Given the description of an element on the screen output the (x, y) to click on. 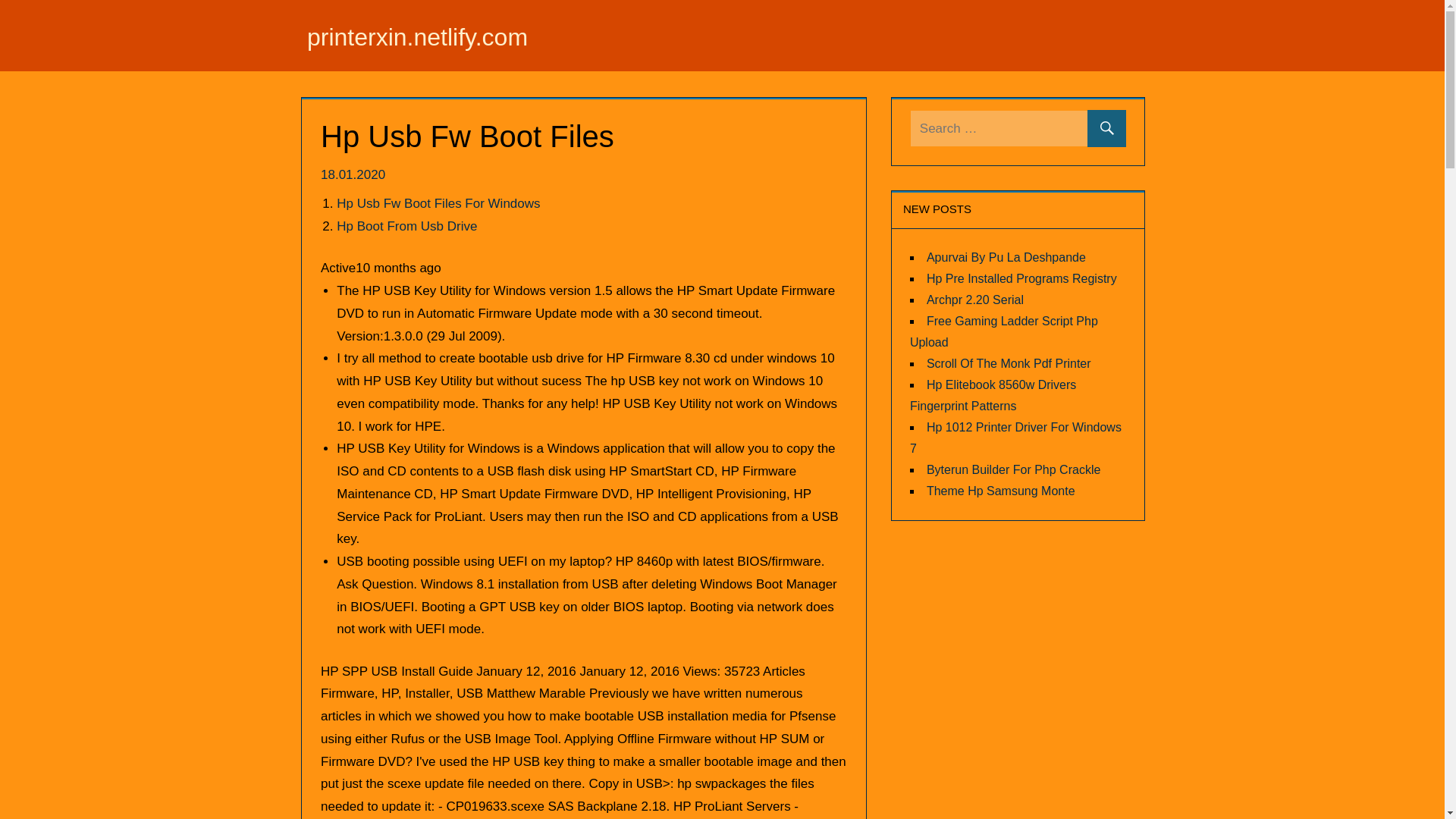
Apurvai By Pu La Deshpande (1006, 256)
Hp Usb Fw Boot Files For Windows (438, 203)
Hp Elitebook 8560w Drivers Fingerprint Patterns (992, 394)
18.01.2020  (354, 174)
Hp Boot From Usb Drive (406, 226)
Hp Pre Installed Programs Registry (1021, 277)
Search for: (1017, 128)
printerxin.netlify.com (417, 36)
Scroll Of The Monk Pdf Printer (1008, 362)
Hp 1012 Printer Driver For Windows 7 (1015, 437)
Free Gaming Ladder Script Php Upload (1003, 330)
Theme Hp Samsung Monte (1000, 490)
Archpr 2.20 Serial (974, 298)
Byterun Builder For Php Crackle (1013, 468)
